Given the description of an element on the screen output the (x, y) to click on. 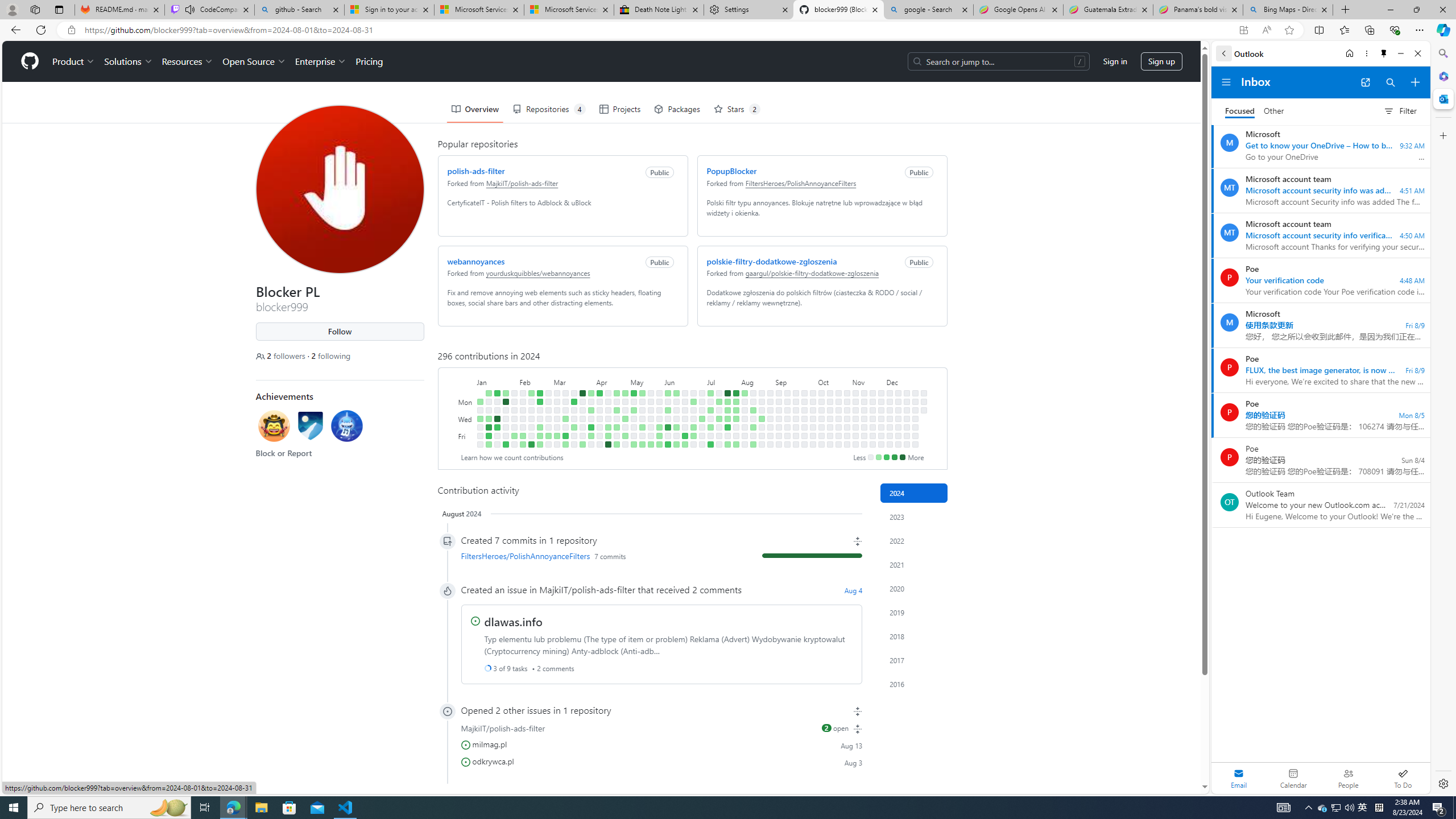
July (723, 380)
No contributions on May 24th. (650, 435)
No contributions on October 19th. (829, 444)
No contributions on March 29th. (582, 435)
No contributions on October 21st. (837, 401)
Saturday (465, 444)
No contributions on October 11th. (821, 435)
No contributions on December 15th. (906, 392)
No contributions on December 27th. (914, 435)
No contributions on December 29th. (923, 392)
No contributions on October 26th. (837, 444)
2 contributions on February 24th. (539, 444)
